Given the description of an element on the screen output the (x, y) to click on. 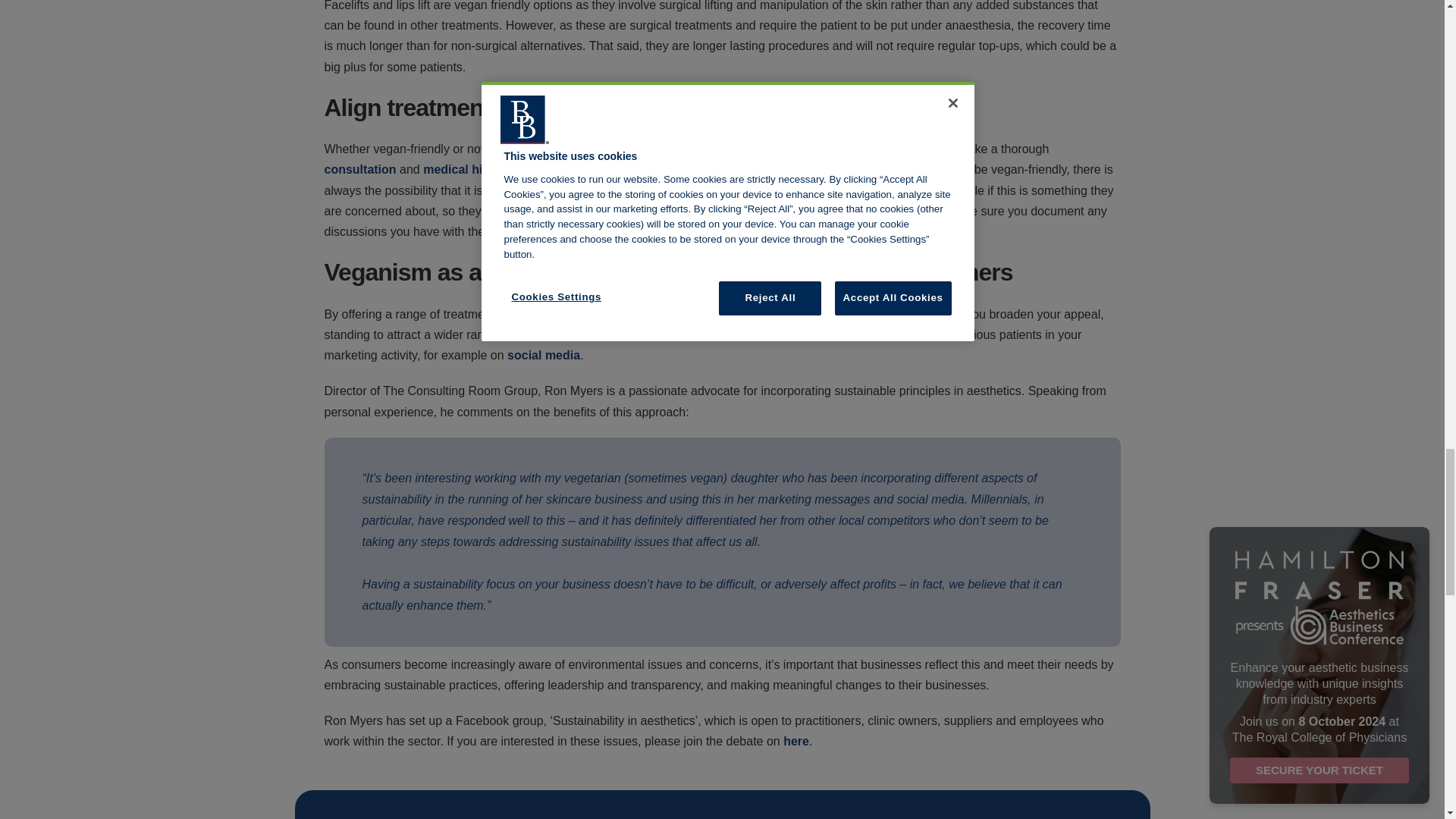
social media (542, 354)
consultation (360, 169)
medical history (467, 169)
here (796, 740)
